Given the description of an element on the screen output the (x, y) to click on. 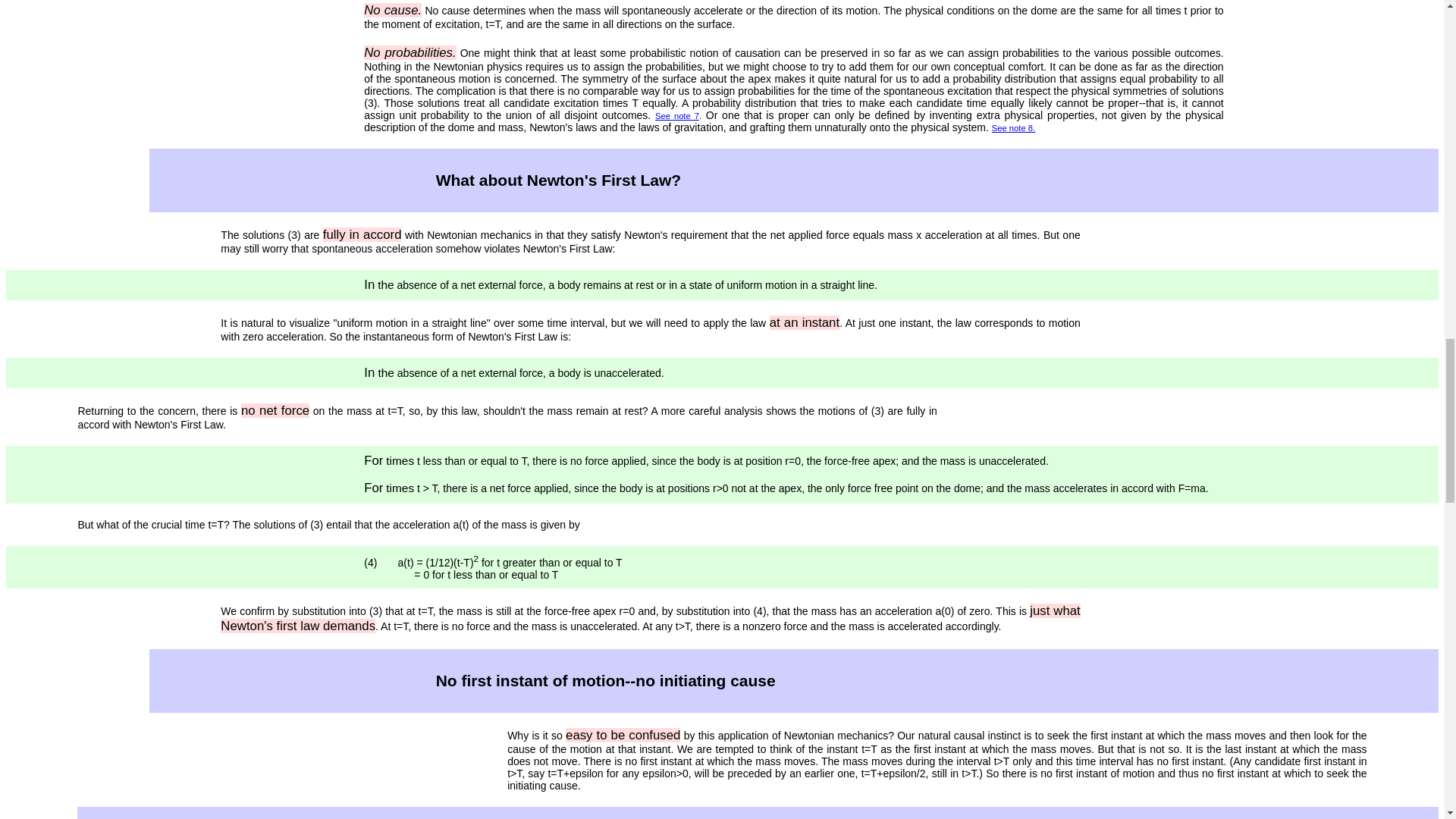
See note 7 (676, 115)
See note 8. (1013, 127)
